Given the description of an element on the screen output the (x, y) to click on. 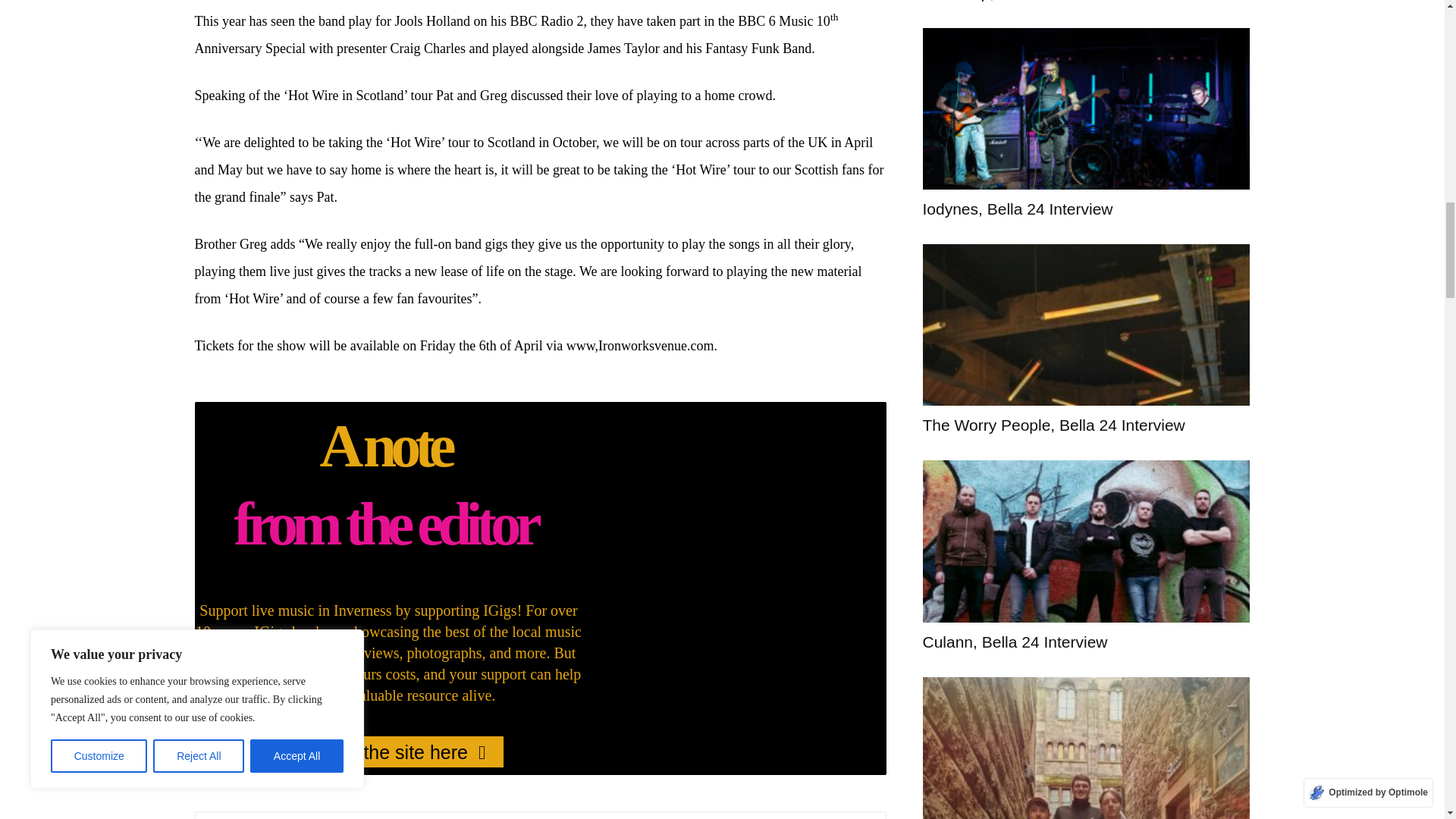
Support the site here (388, 751)
